Given the description of an element on the screen output the (x, y) to click on. 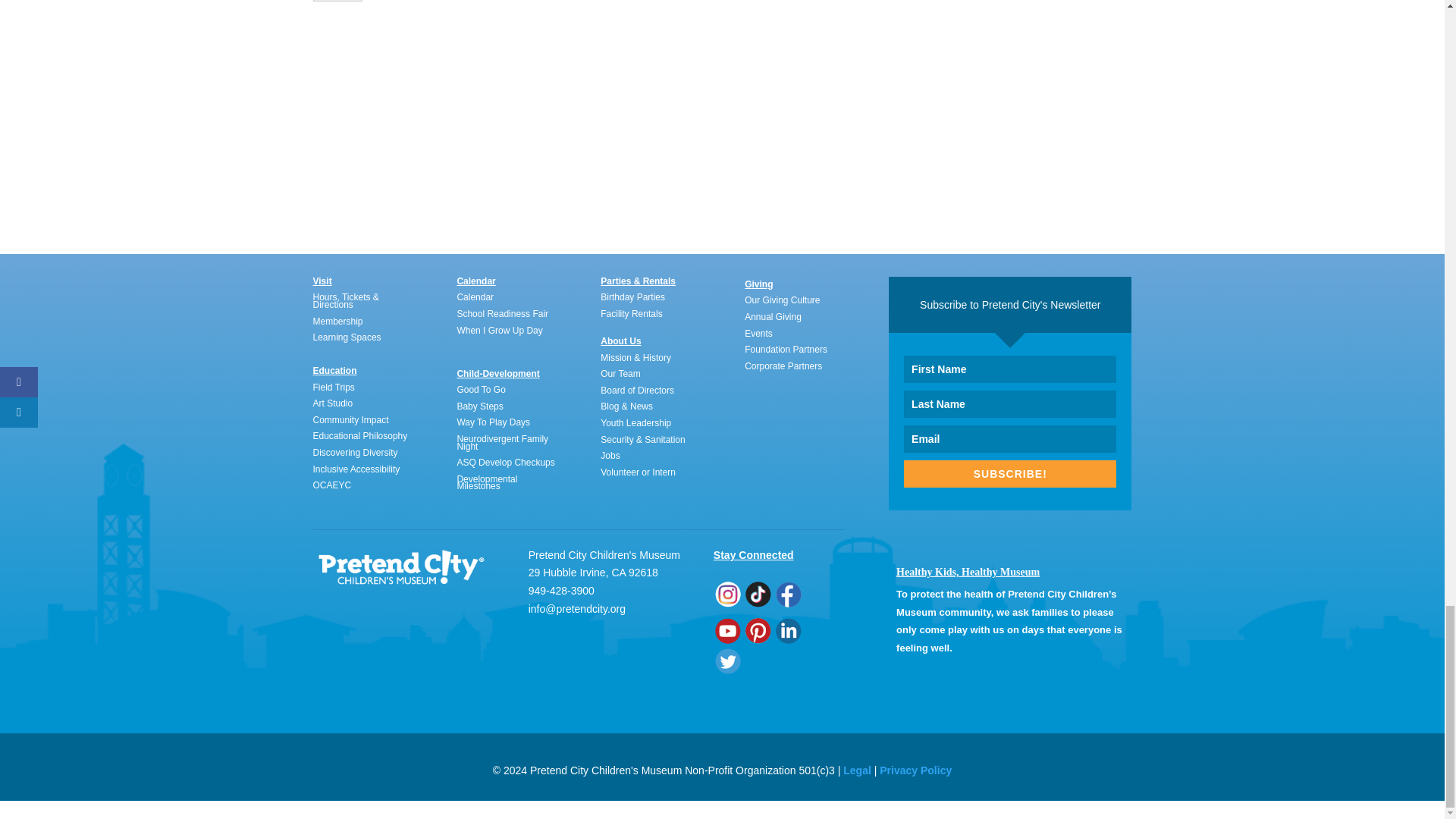
Field Trips (333, 387)
Art Studio (332, 403)
